Given the description of an element on the screen output the (x, y) to click on. 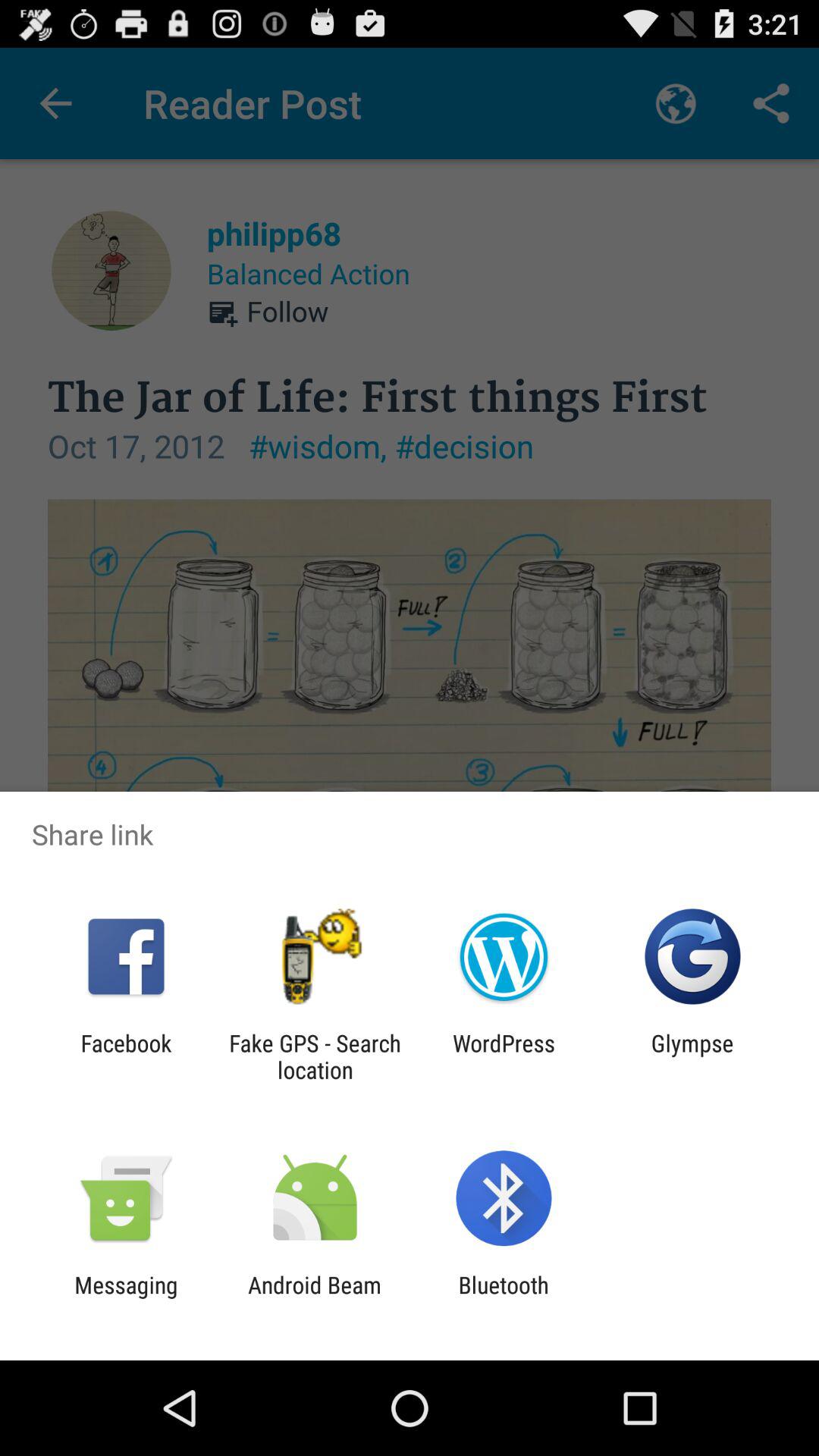
launch glympse (692, 1056)
